Given the description of an element on the screen output the (x, y) to click on. 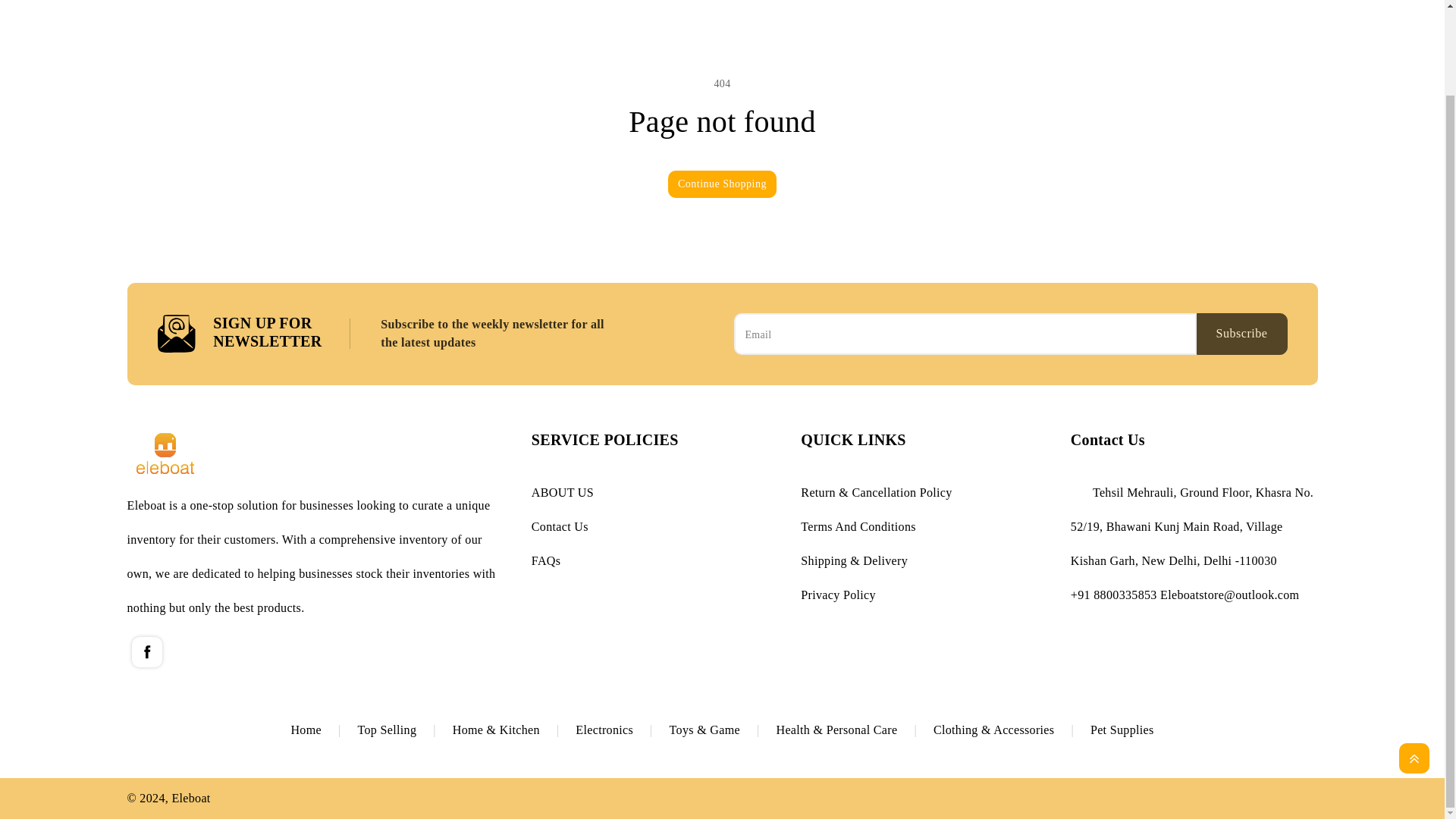
Pet Supplies (1122, 729)
All products (322, 729)
Top Selling (405, 729)
Scroll to top (1414, 661)
Electronics (621, 729)
